Given the description of an element on the screen output the (x, y) to click on. 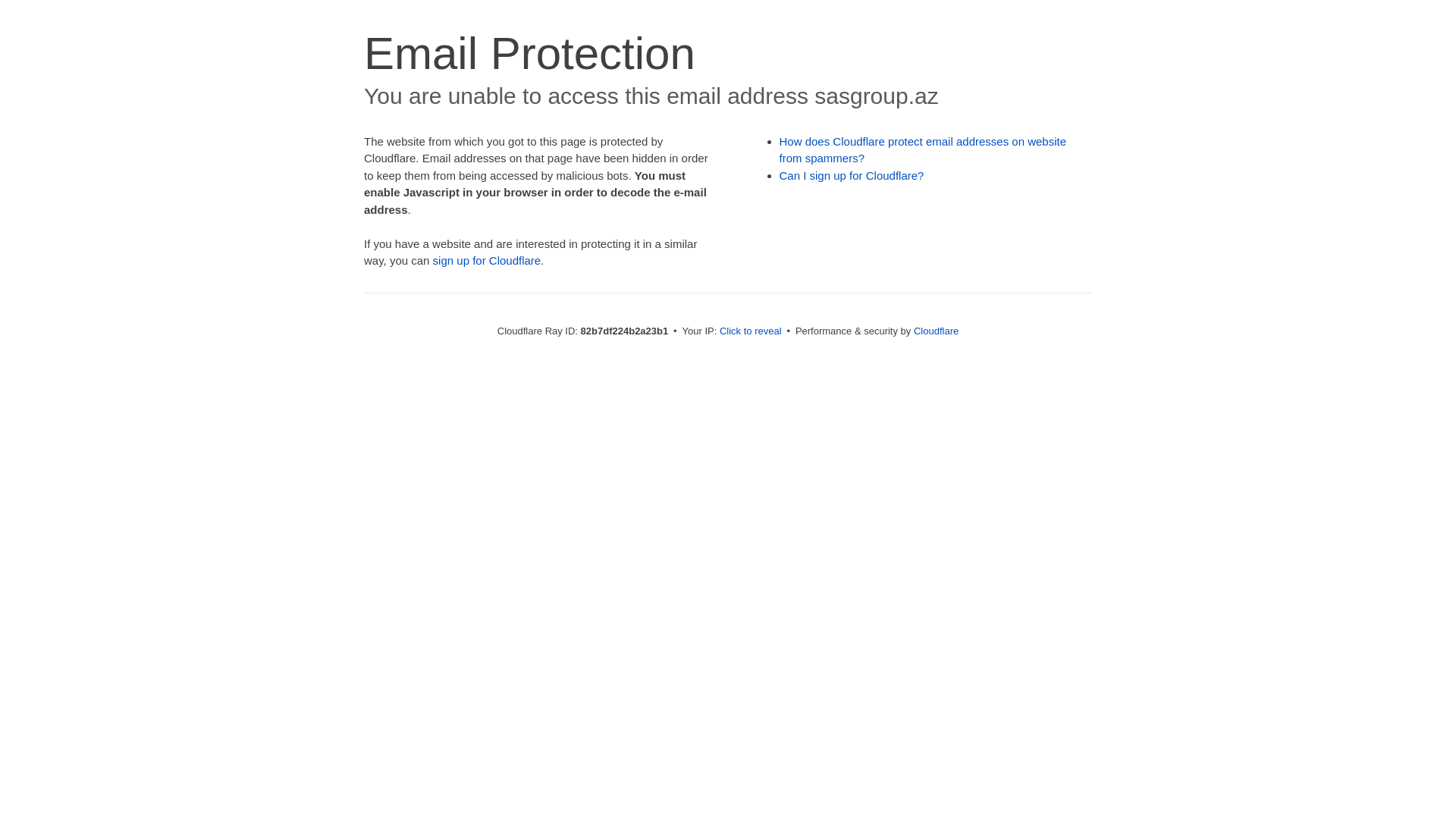
Can I sign up for Cloudflare? Element type: text (851, 175)
Cloudflare Element type: text (935, 330)
Click to reveal Element type: text (750, 330)
sign up for Cloudflare Element type: text (487, 260)
